Given the description of an element on the screen output the (x, y) to click on. 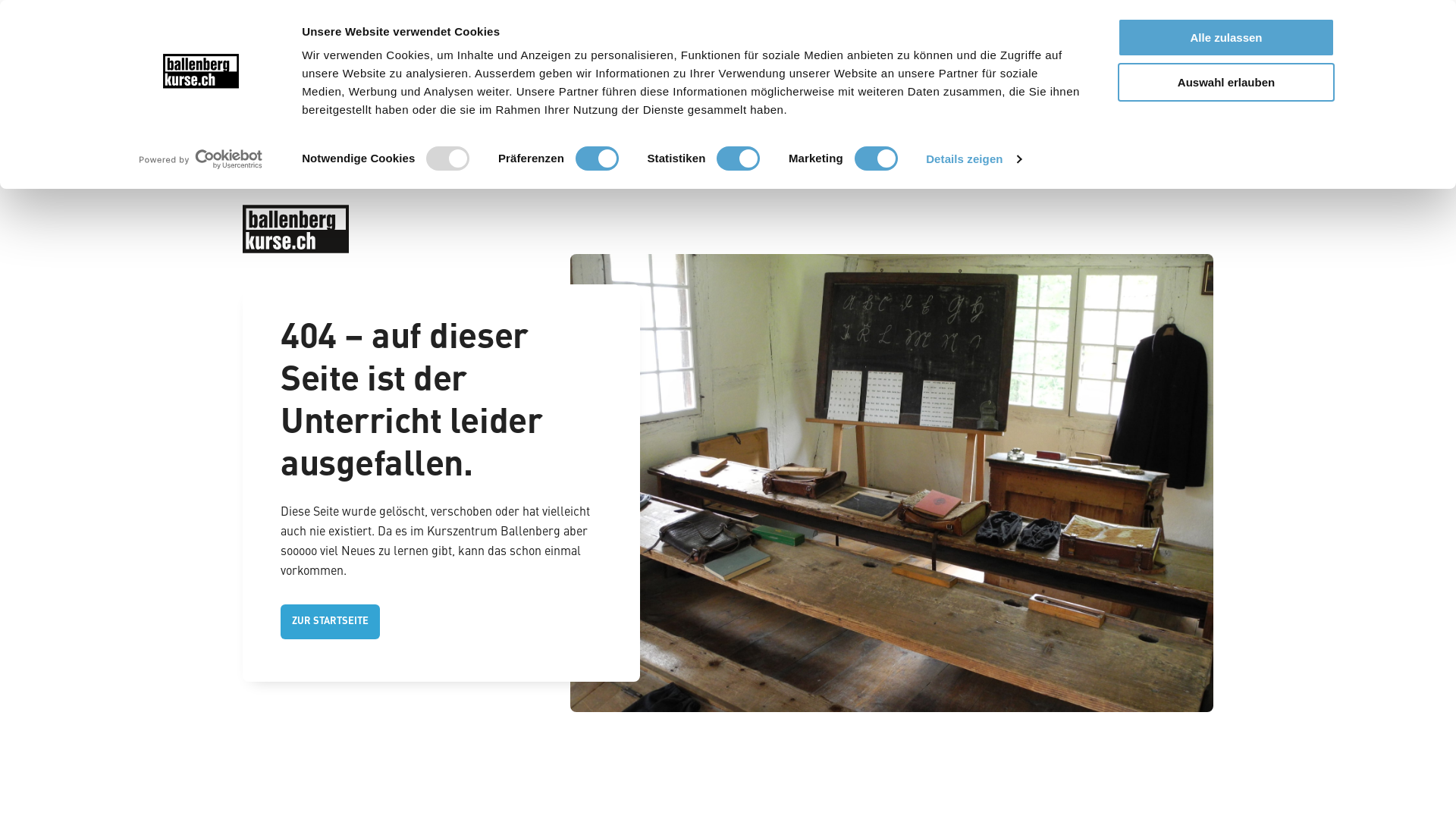
Details zeigen Element type: text (972, 158)
ZUR STARTSEITE Element type: text (329, 621)
Alle zulassen Element type: text (1225, 37)
Auswahl erlauben Element type: text (1225, 81)
